Given the description of an element on the screen output the (x, y) to click on. 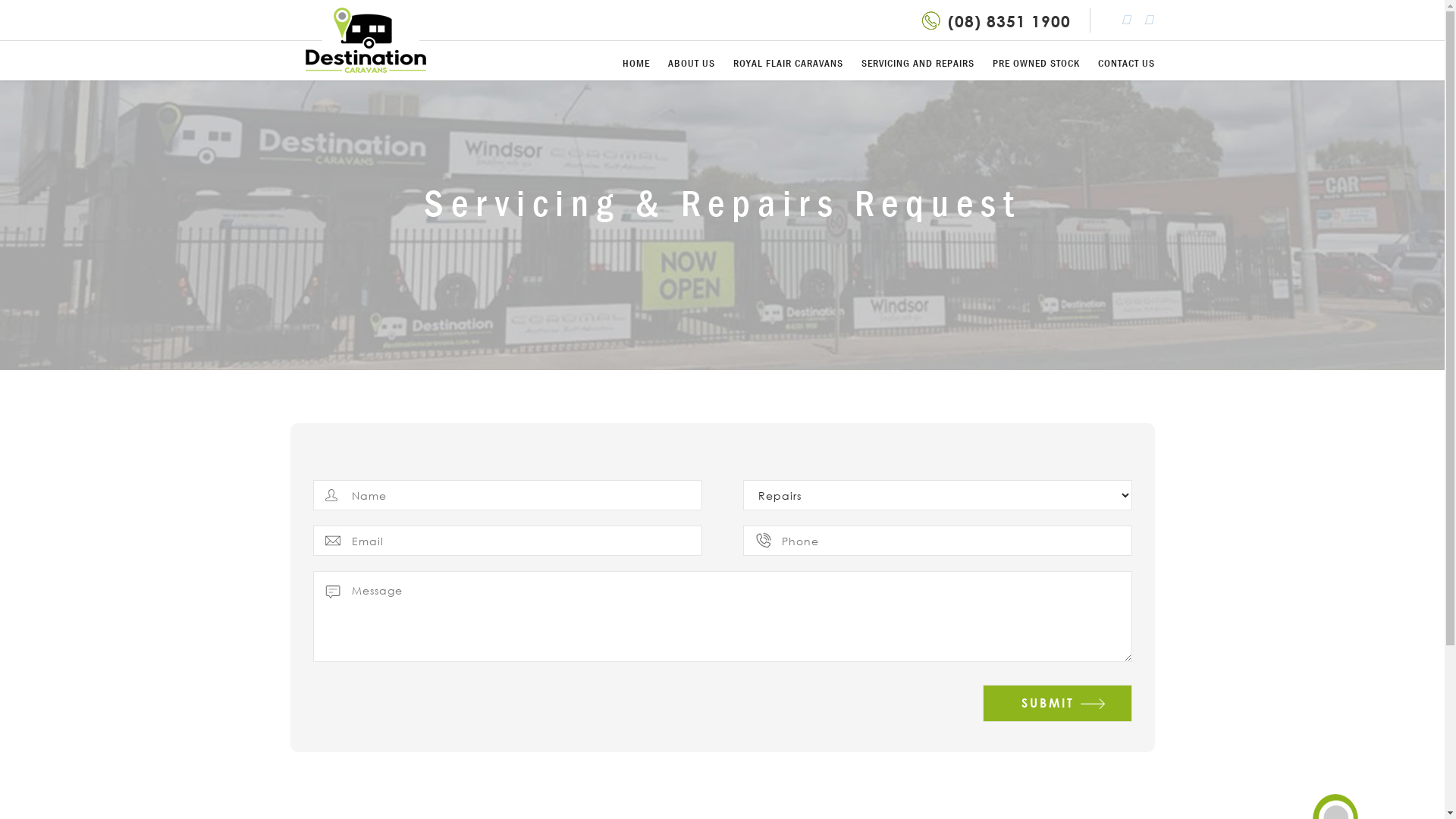
SERVICING AND REPAIRS Element type: text (917, 62)
CONTACT US Element type: text (1126, 62)
(08) 8351 1900 Element type: text (1008, 20)
ROYAL FLAIR CARAVANS Element type: text (787, 62)
ABOUT US Element type: text (690, 62)
Submit Element type: text (1057, 702)
PRE OWNED STOCK Element type: text (1035, 62)
HOME Element type: text (635, 62)
